Given the description of an element on the screen output the (x, y) to click on. 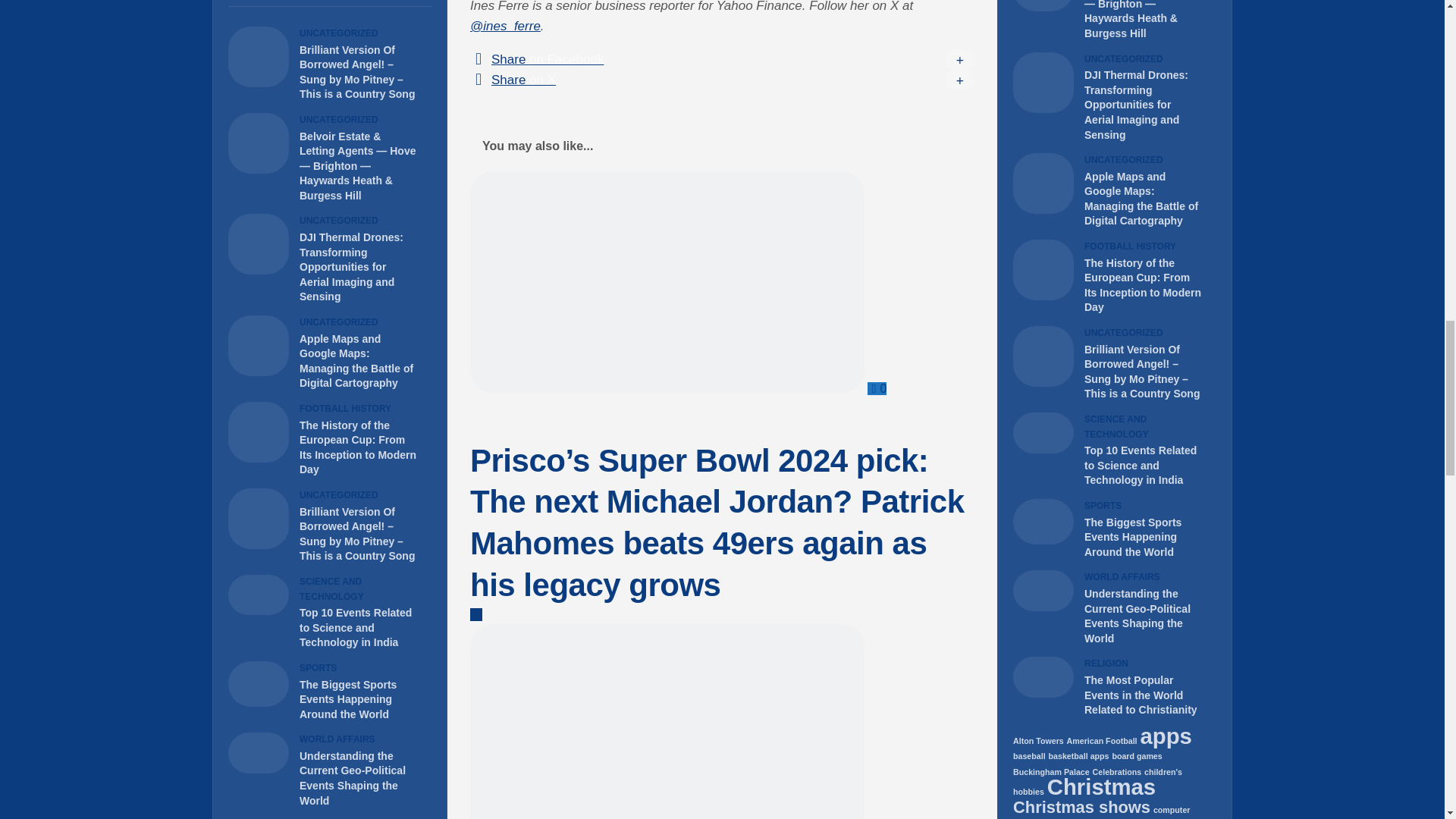
Recent Comments (355, 3)
Share on X (722, 79)
Share on Facebook (722, 59)
Popular Posts (304, 3)
Tags (405, 3)
Recent Posts (253, 3)
